Given the description of an element on the screen output the (x, y) to click on. 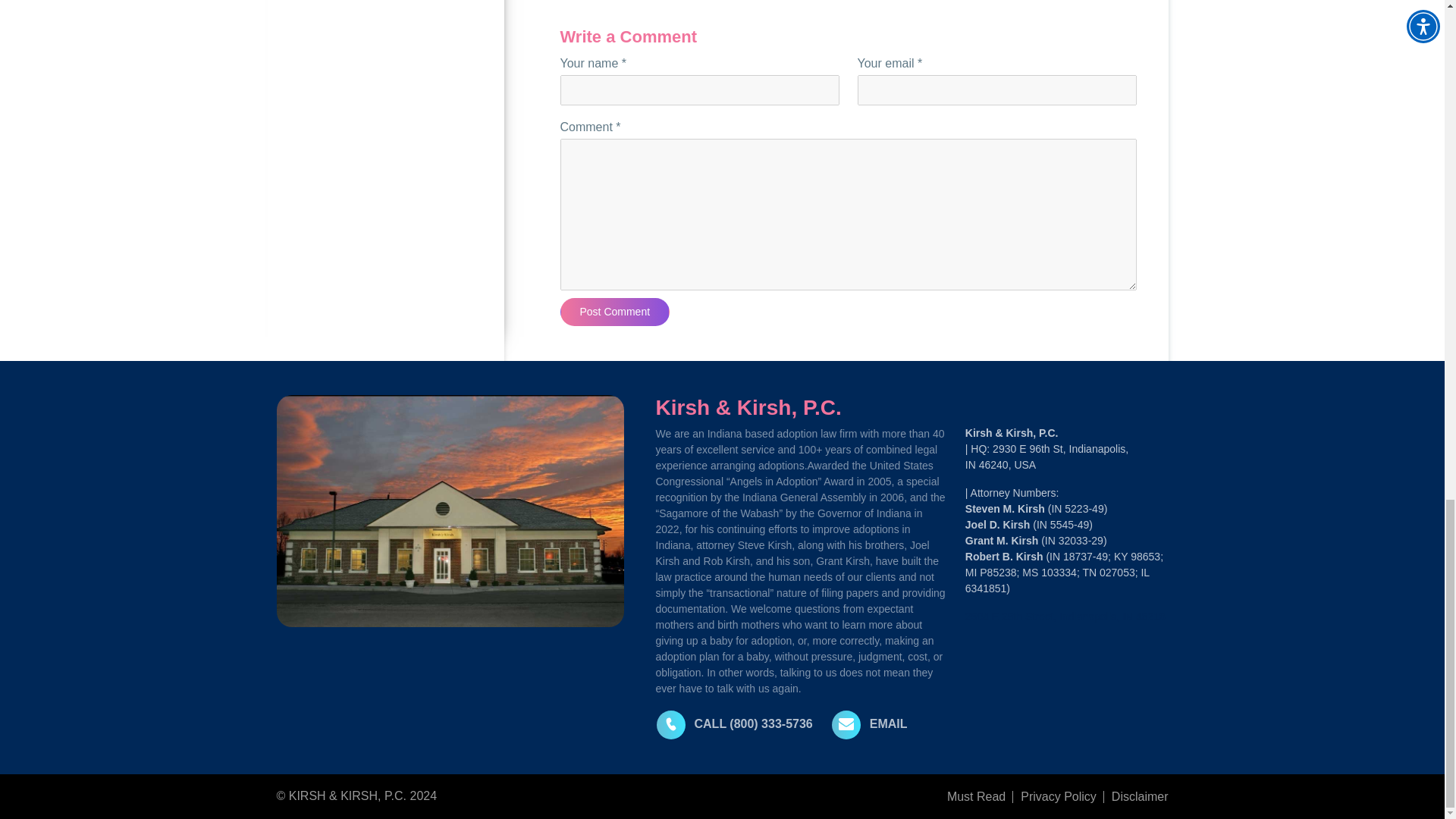
Post Comment (614, 311)
Post Comment (614, 311)
